Given the description of an element on the screen output the (x, y) to click on. 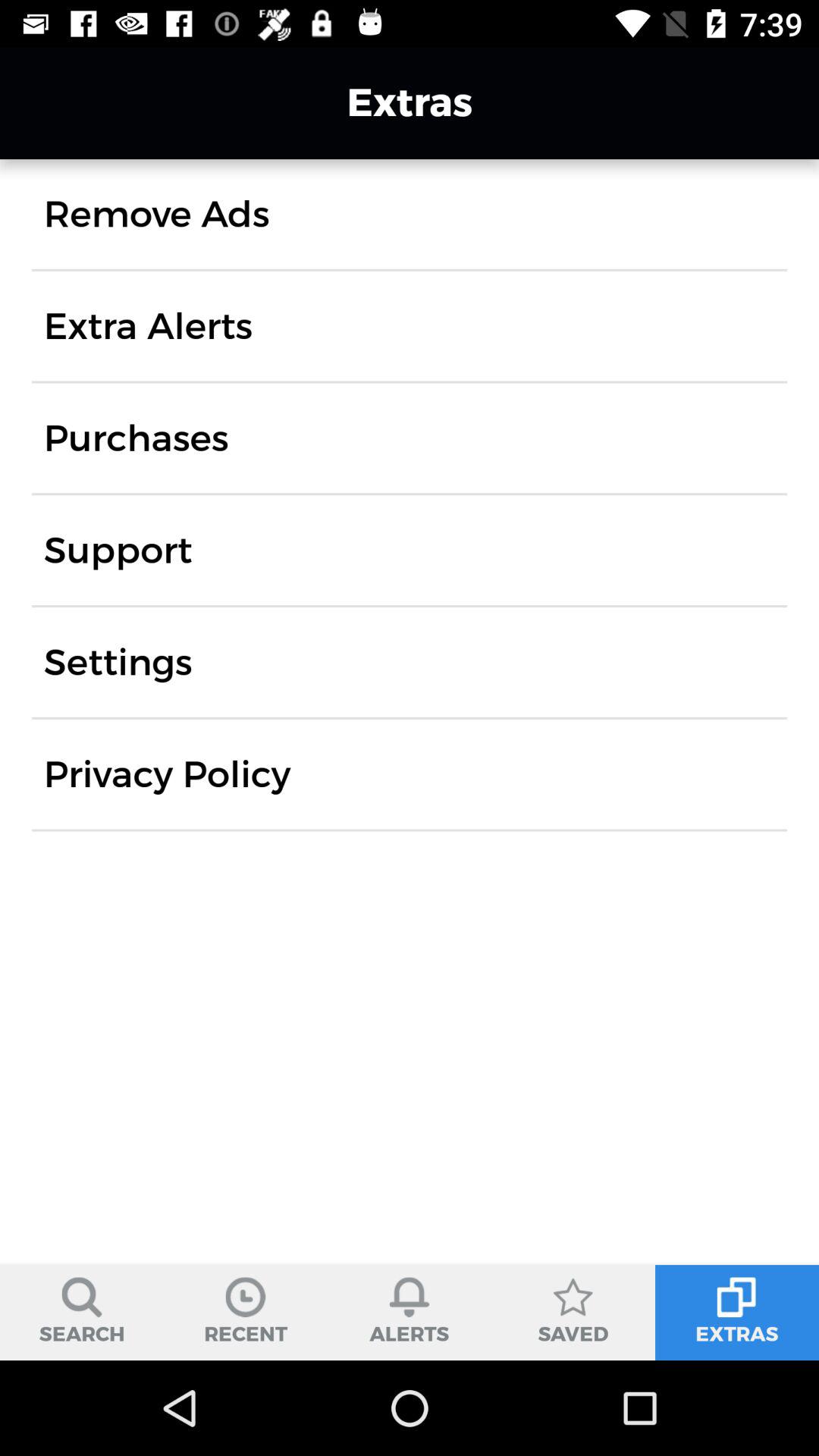
press the settings item (117, 662)
